Given the description of an element on the screen output the (x, y) to click on. 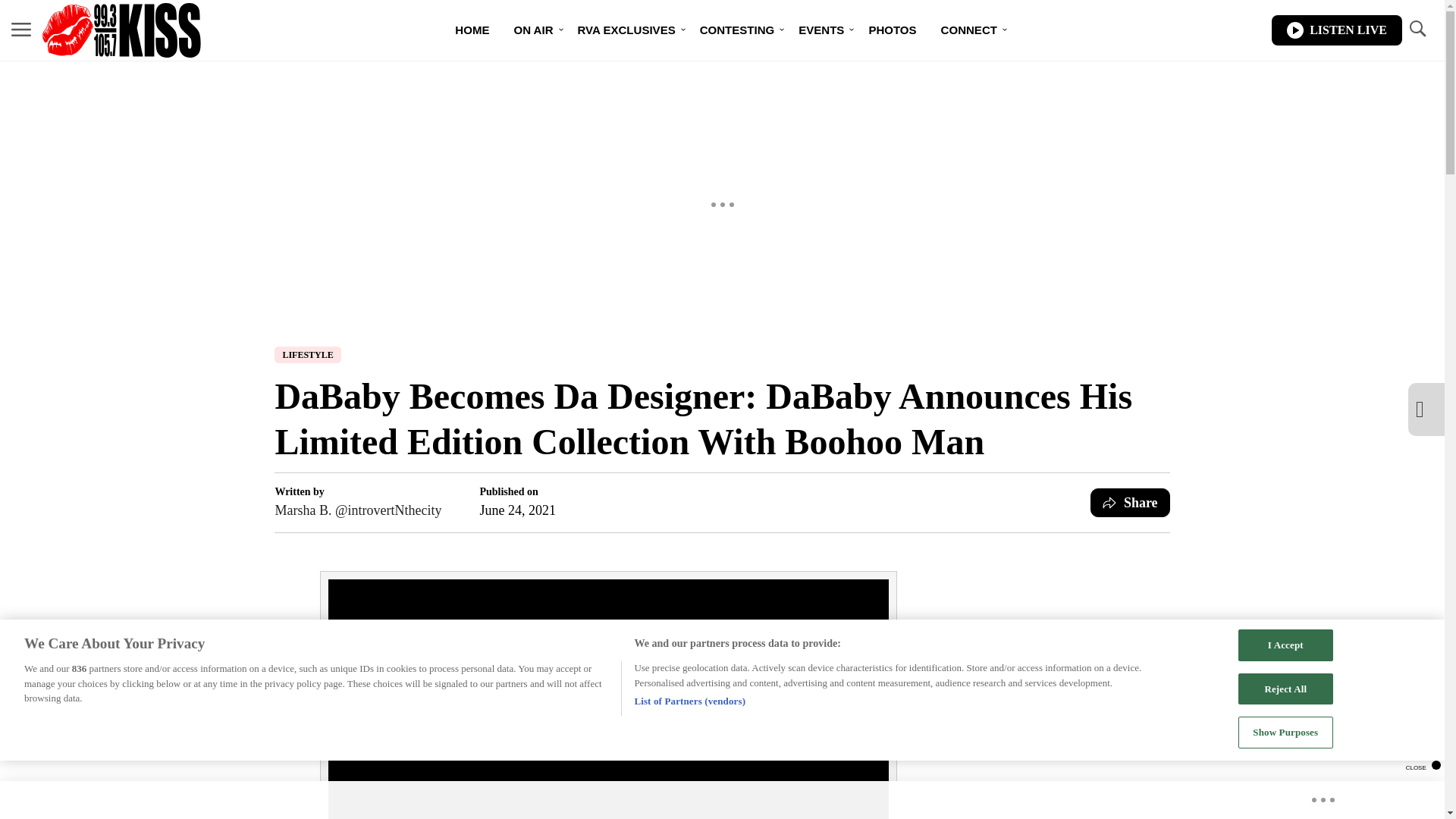
CONNECT (968, 30)
HOME (471, 30)
ON AIR (532, 30)
TOGGLE SEARCH (1417, 30)
LIFESTYLE (307, 354)
PHOTOS (892, 30)
CONTESTING (737, 30)
RVA EXCLUSIVES (626, 30)
MENU (20, 29)
MENU (20, 30)
EVENTS (821, 30)
TOGGLE SEARCH (1417, 28)
LISTEN LIVE (1336, 30)
